Given the description of an element on the screen output the (x, y) to click on. 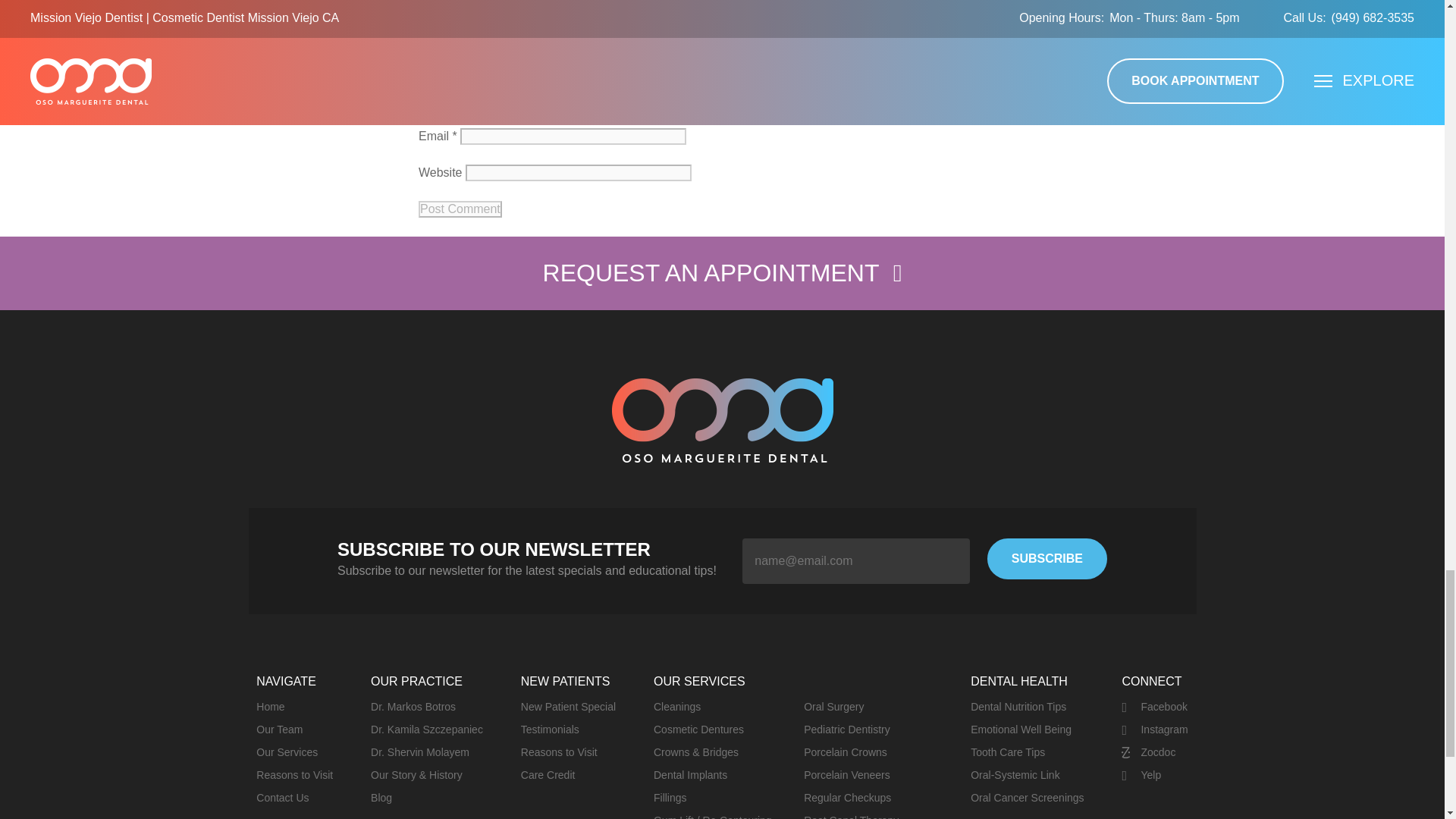
Post Comment (460, 208)
Please enter your email address (855, 560)
Post Comment (460, 208)
